Given the description of an element on the screen output the (x, y) to click on. 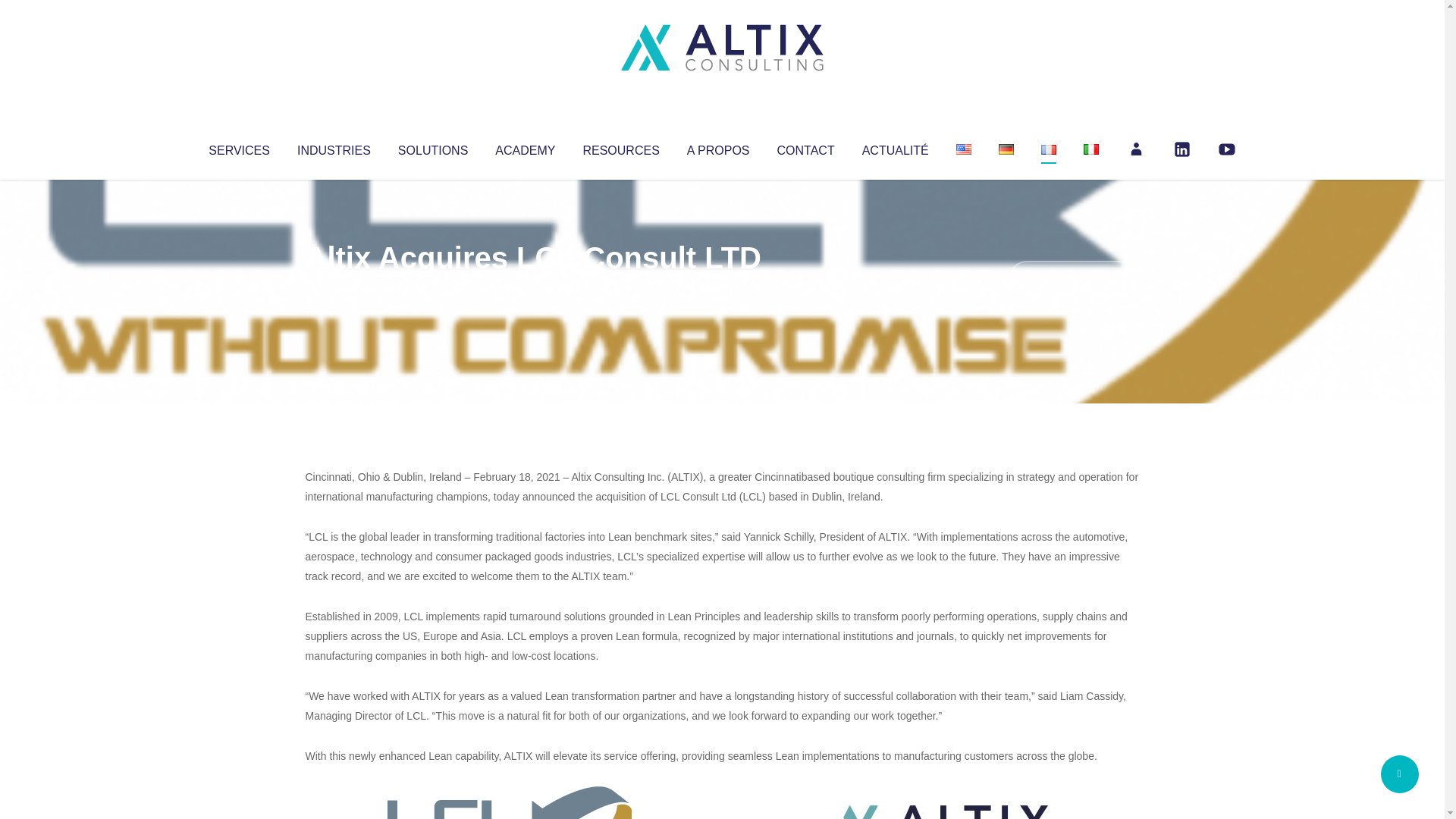
SERVICES (238, 146)
No Comments (1073, 278)
RESOURCES (620, 146)
Altix (333, 287)
SOLUTIONS (432, 146)
Uncategorized (530, 287)
A PROPOS (718, 146)
INDUSTRIES (334, 146)
Articles par Altix (333, 287)
ACADEMY (524, 146)
